Given the description of an element on the screen output the (x, y) to click on. 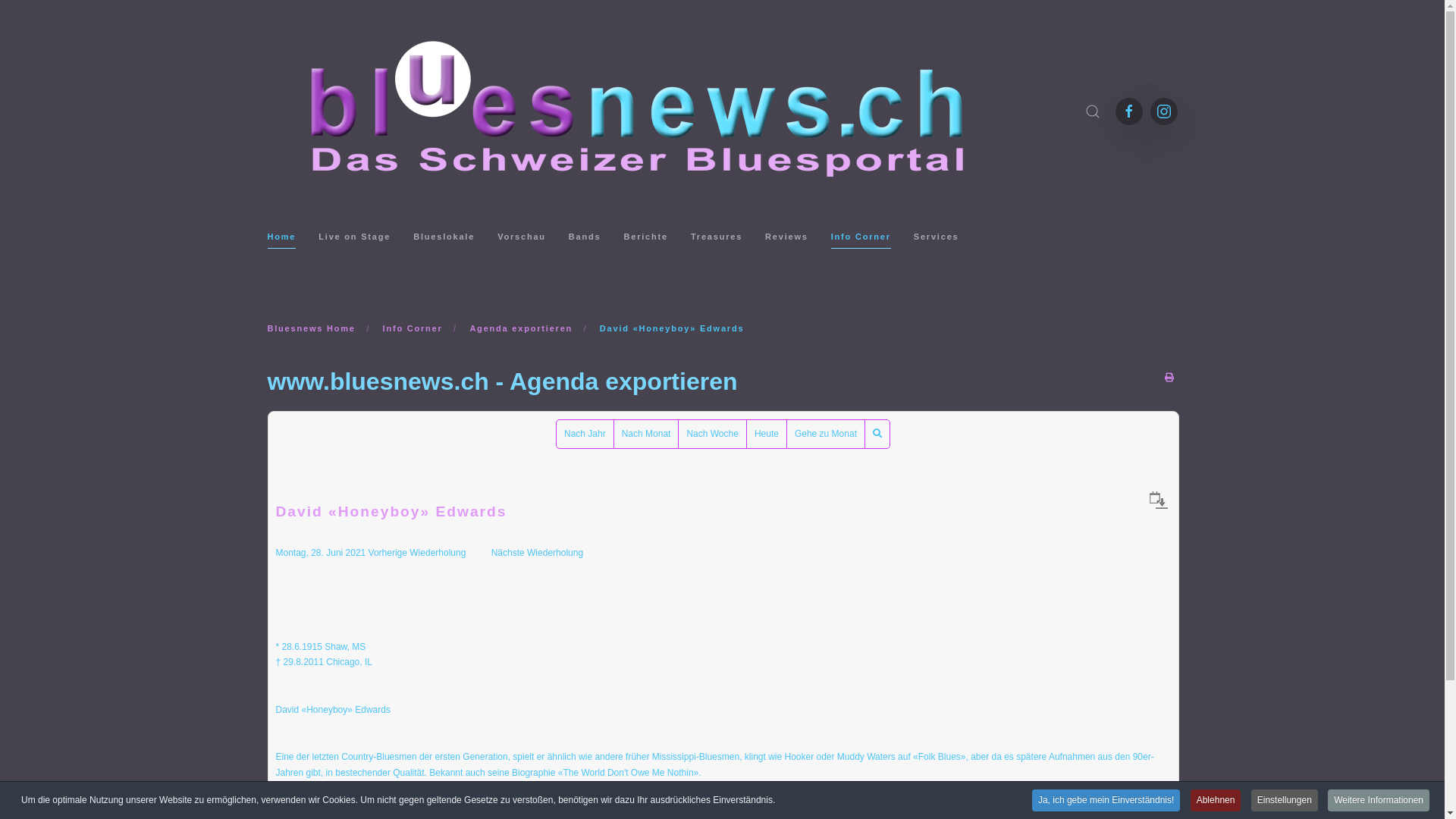
Agenda exportieren Element type: text (520, 327)
Bluesnews Home Element type: text (310, 327)
Einstellungen speichern Element type: text (850, 539)
Als iCal-Datei herunterladen Element type: hover (1158, 499)
Alle Cookies zulassen Element type: text (601, 539)
Suche Element type: hover (877, 434)
Info Corner Element type: text (861, 237)
Einstellungen Element type: text (1284, 800)
Berichte Element type: text (645, 237)
Bands Element type: text (584, 237)
Weitere Informationen Element type: text (1378, 800)
Heute Element type: text (766, 434)
Drucken Element type: hover (1168, 377)
Nach Woche Element type: text (711, 434)
Alle Cookies ablehnen Element type: text (723, 539)
Gehe zu Monat Element type: text (825, 434)
Nach Monat Element type: text (646, 434)
Services Element type: text (936, 237)
Vorschau Element type: text (521, 237)
Reviews Element type: text (786, 237)
Ablehnen Element type: text (1215, 800)
Treasures Element type: text (716, 237)
Nach Jahr Element type: text (584, 434)
Home Element type: text (280, 237)
1 Element type: text (694, 305)
Info Corner Element type: text (412, 327)
Vorherige Wiederholung Element type: text (417, 552)
Live on Stage Element type: text (354, 237)
Blueslokale Element type: text (443, 237)
